Given the description of an element on the screen output the (x, y) to click on. 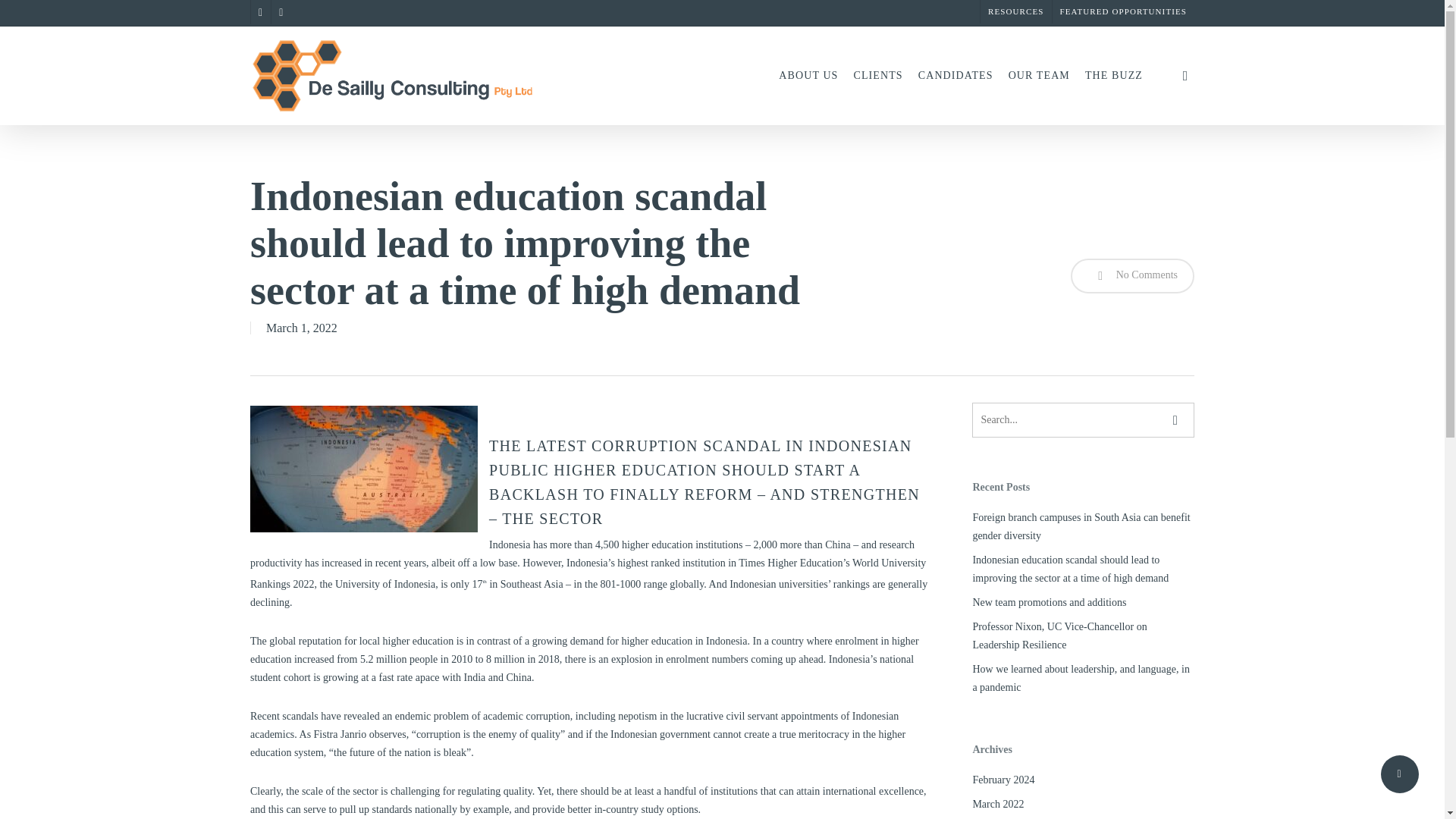
CLIENTS (877, 75)
Search for: (1082, 419)
OUR TEAM (1039, 75)
search (1184, 75)
No Comments (1131, 275)
ABOUT US (808, 75)
CANDIDATES (956, 75)
February 2024 (1082, 780)
RESOURCES (1015, 11)
How we learned about leadership, and language, in a pandemic (1082, 678)
Professor Nixon, UC Vice-Chancellor on Leadership Resilience (1082, 636)
THE BUZZ (1113, 75)
March 2022 (1082, 804)
